Given the description of an element on the screen output the (x, y) to click on. 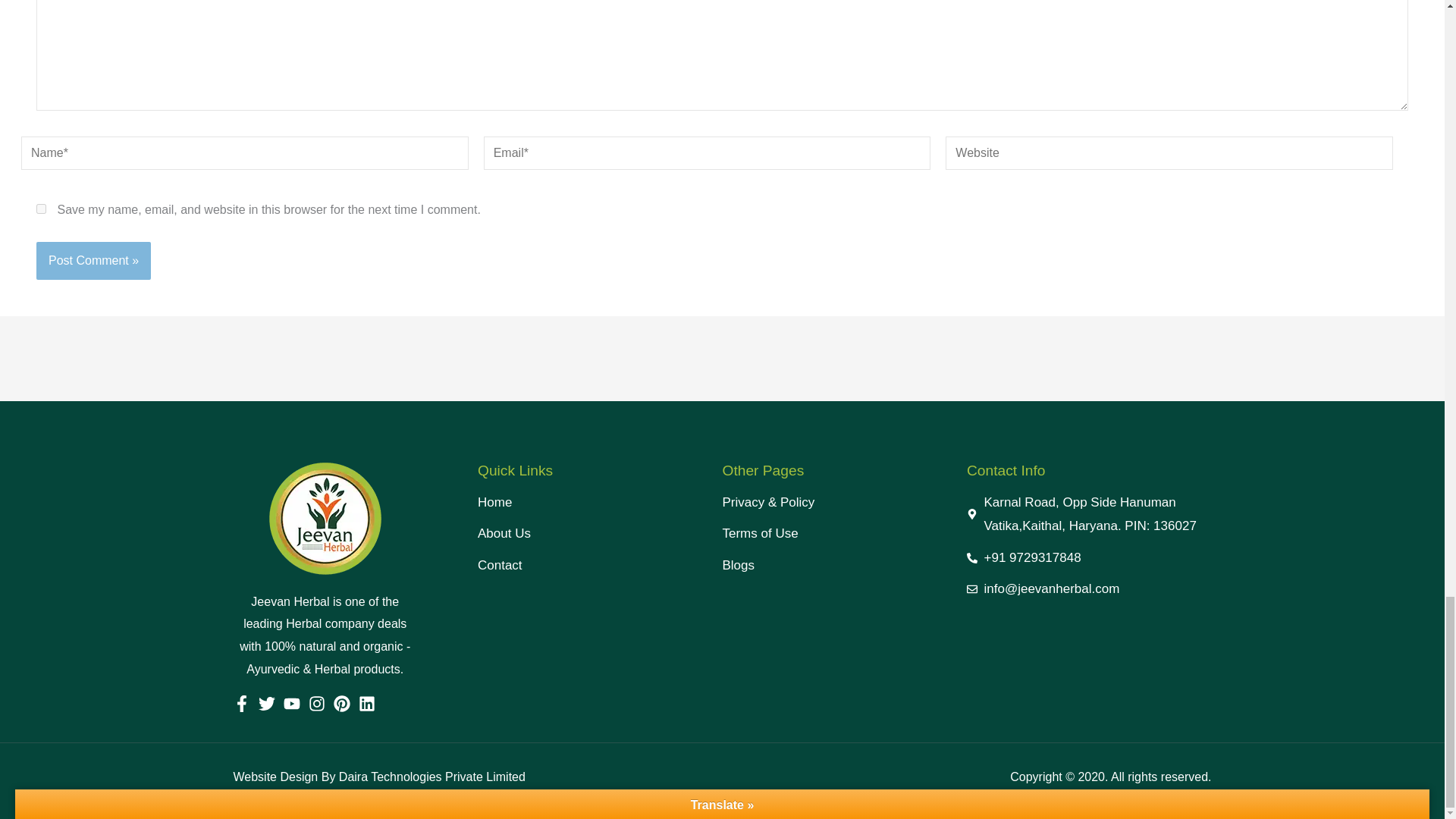
Linkedin (366, 703)
Pinterest (341, 703)
Home (599, 502)
Twitter (266, 703)
yes (41, 207)
Instagram (315, 703)
Youtube (291, 703)
Facebook-f (241, 703)
